Given the description of an element on the screen output the (x, y) to click on. 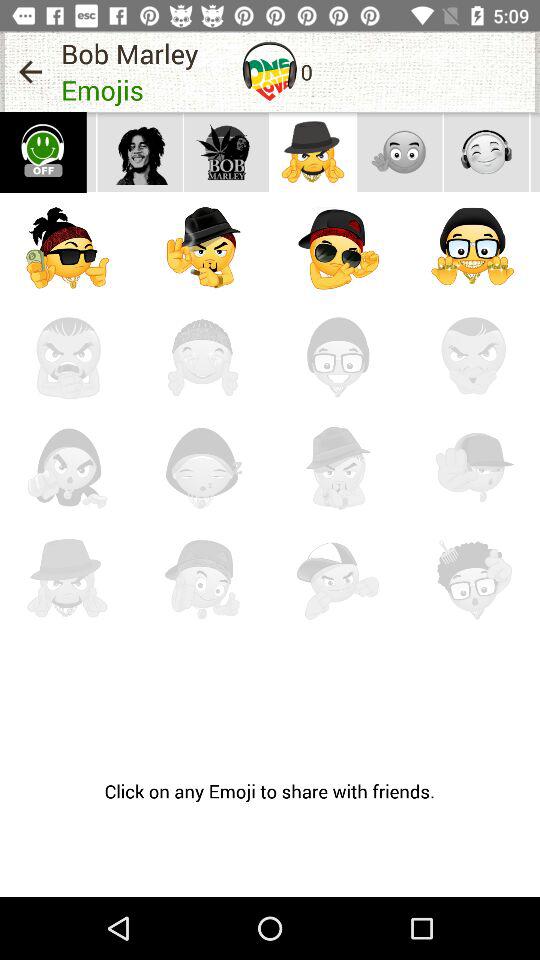
go back (30, 71)
